Given the description of an element on the screen output the (x, y) to click on. 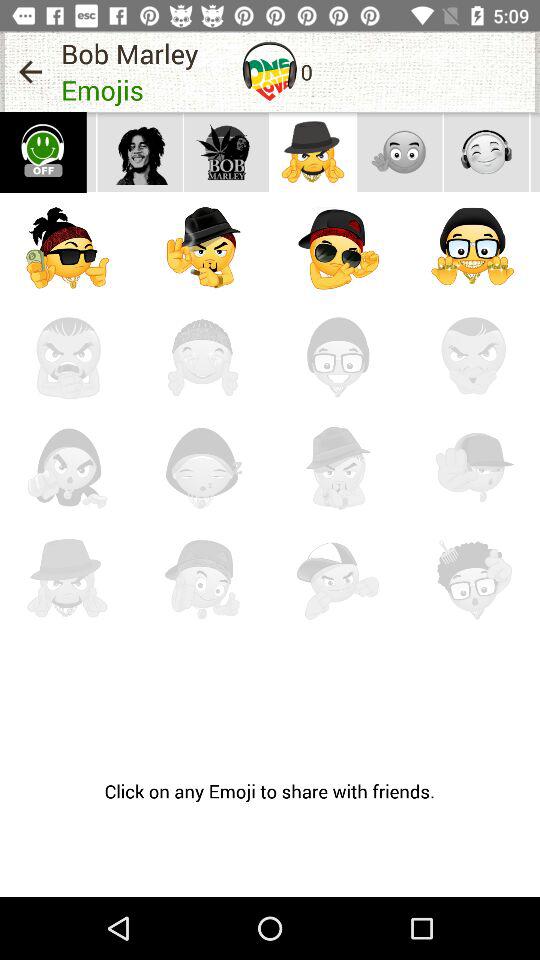
go back (30, 71)
